Given the description of an element on the screen output the (x, y) to click on. 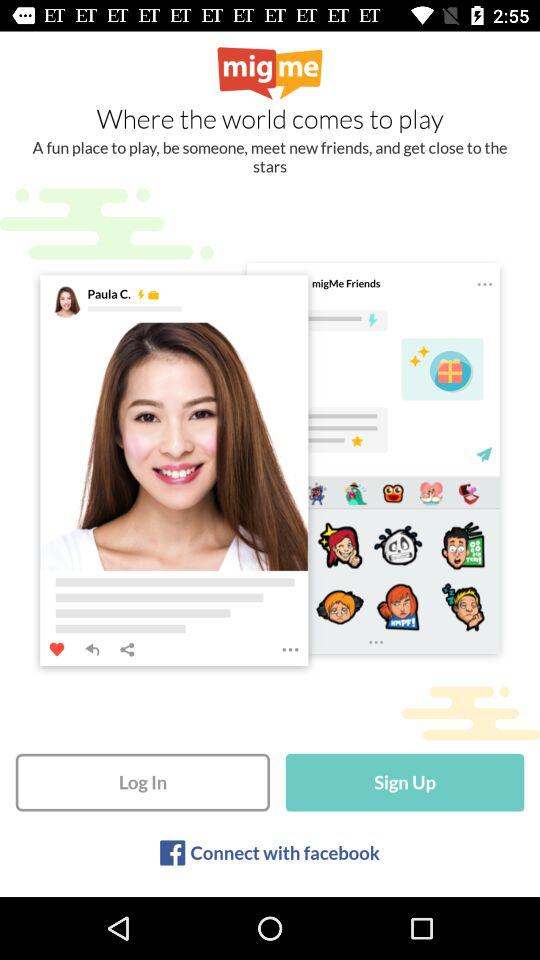
jump until the sign up item (404, 782)
